Given the description of an element on the screen output the (x, y) to click on. 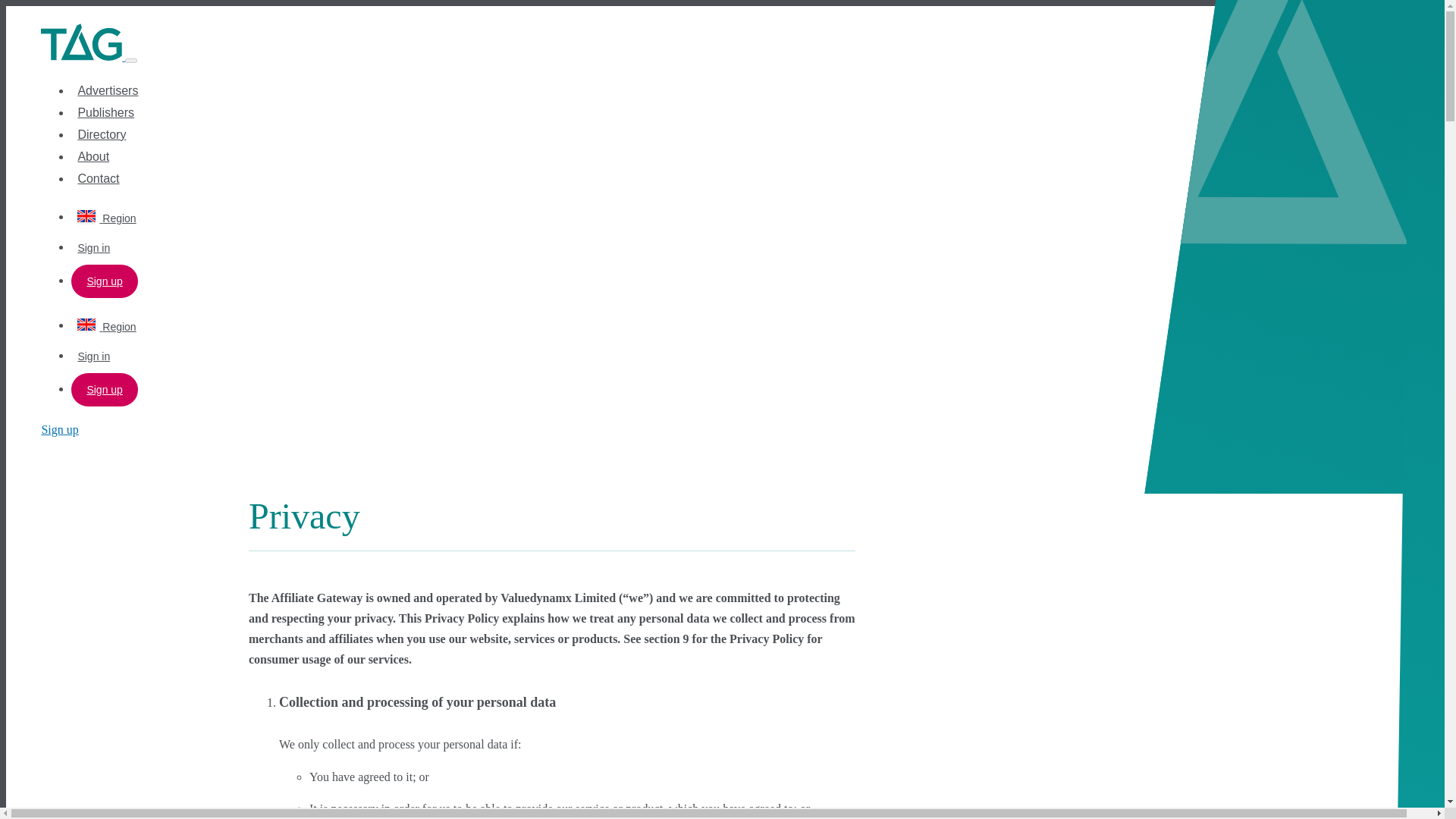
Sign in (93, 356)
Sign in (93, 247)
Advertisers (107, 90)
Region (106, 326)
Sign up (103, 281)
Sign up (59, 429)
About (93, 155)
Contact (98, 178)
Sign up (103, 389)
Directory (101, 133)
Publishers (105, 112)
Home (82, 56)
Skip to main content (722, 7)
Region (106, 218)
